Given the description of an element on the screen output the (x, y) to click on. 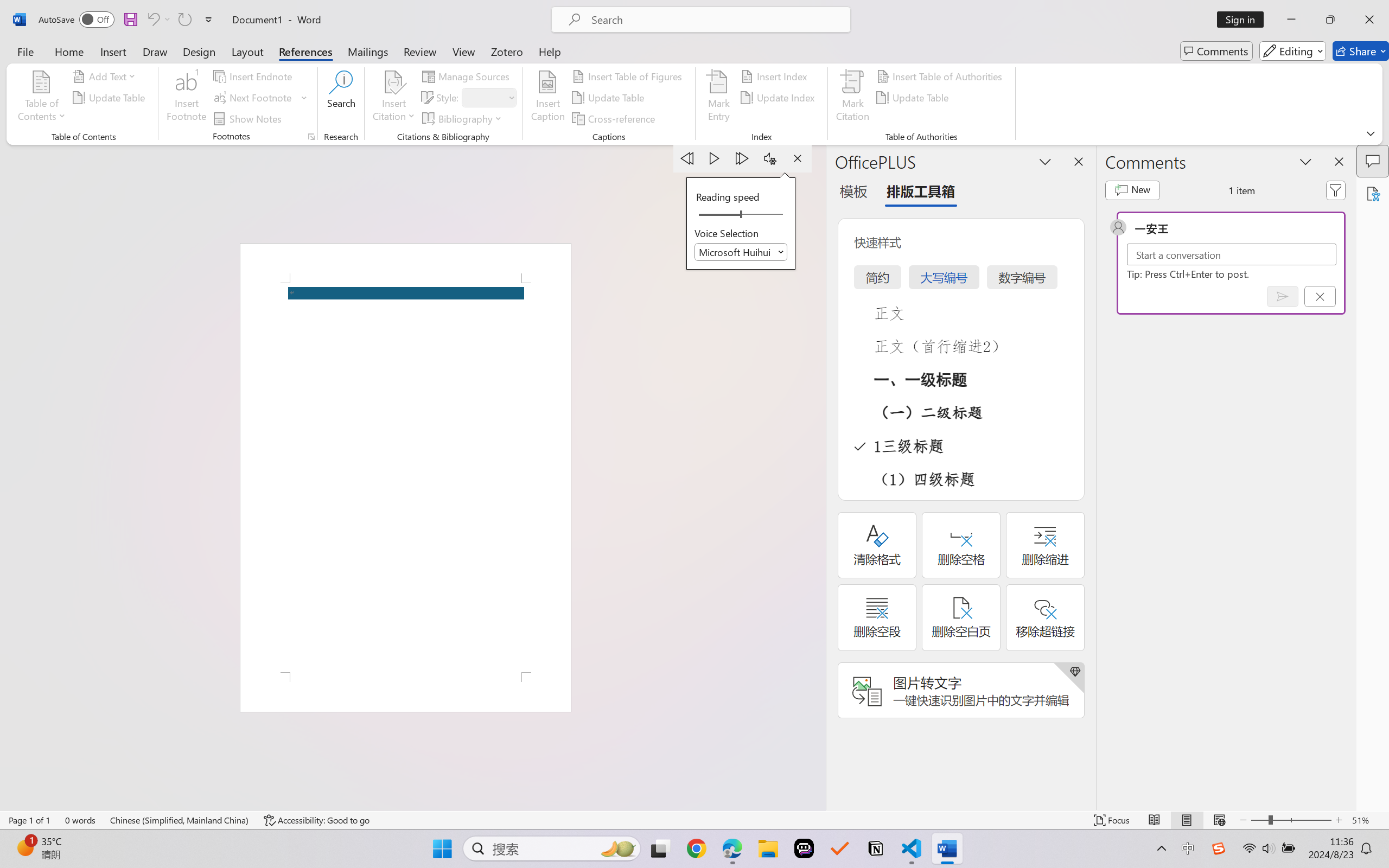
Previous Paragraph (687, 158)
Insert Caption... (547, 97)
Table of Contents (42, 97)
Insert Table of Figures... (628, 75)
Update Index (778, 97)
Next Footnote (260, 97)
Editing (1292, 50)
Page right (765, 214)
